Given the description of an element on the screen output the (x, y) to click on. 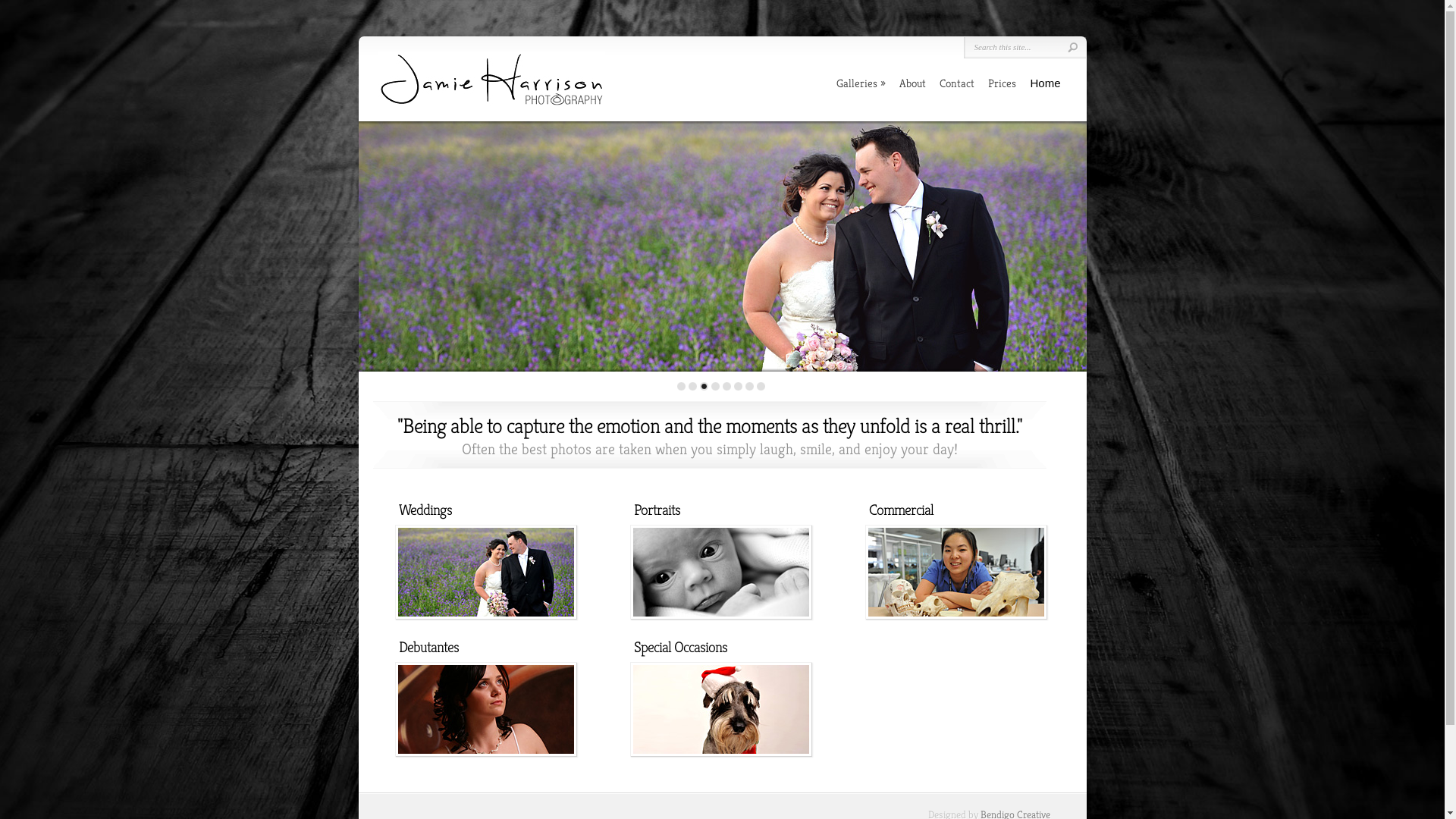
8 Element type: text (760, 386)
Debutantes Element type: hover (485, 709)
Commercial Element type: hover (955, 571)
Special Occasions Element type: hover (720, 709)
6 Element type: text (738, 386)
4 Element type: text (715, 386)
5 Element type: text (725, 386)
3 Element type: text (703, 386)
1 Element type: text (680, 386)
Portraits Element type: hover (720, 571)
About Element type: text (912, 83)
2 Element type: text (692, 386)
Home Element type: text (1044, 83)
Contact Element type: text (956, 83)
Prices Element type: text (1002, 83)
7 Element type: text (748, 386)
Weddings Element type: hover (485, 571)
